Given the description of an element on the screen output the (x, y) to click on. 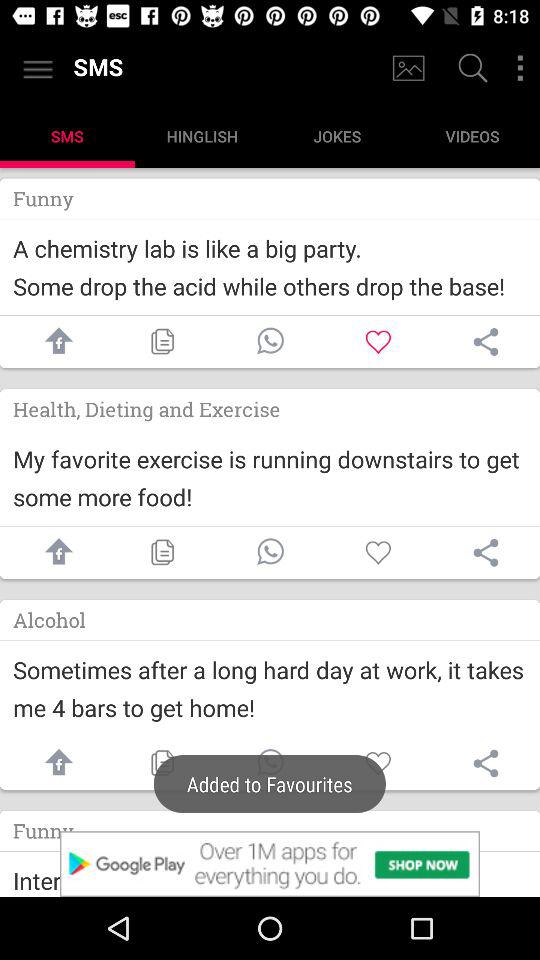
share on facebook (54, 763)
